Given the description of an element on the screen output the (x, y) to click on. 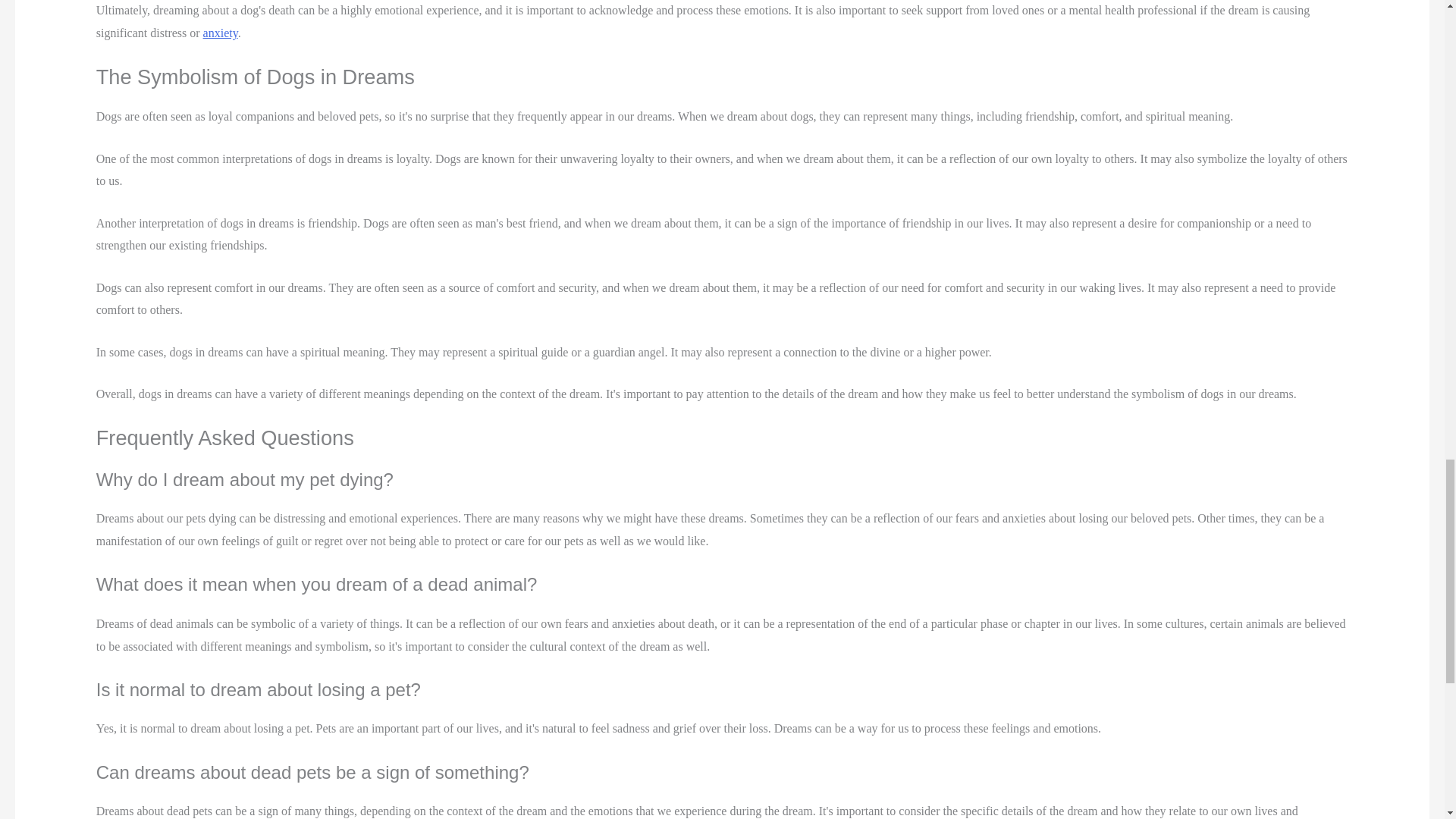
Posts About Anxiety (220, 32)
anxiety (220, 32)
